Given the description of an element on the screen output the (x, y) to click on. 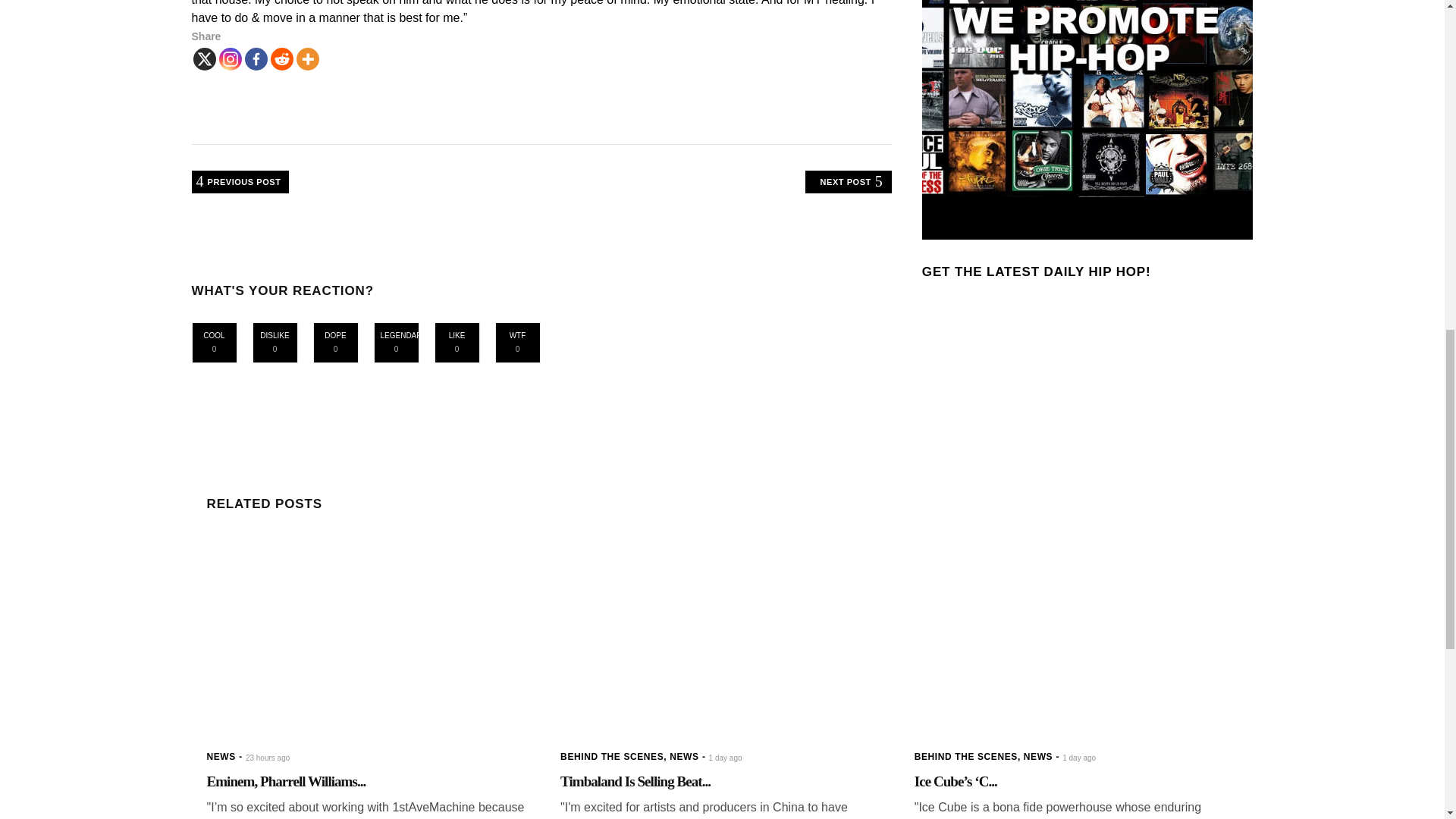
Instagram (229, 58)
Facebook (255, 58)
X (203, 58)
Reddit (280, 58)
Timbaland Is Selling Beats To China. (721, 635)
Timbaland Is Selling Beats To China. (635, 781)
More (306, 58)
